Given the description of an element on the screen output the (x, y) to click on. 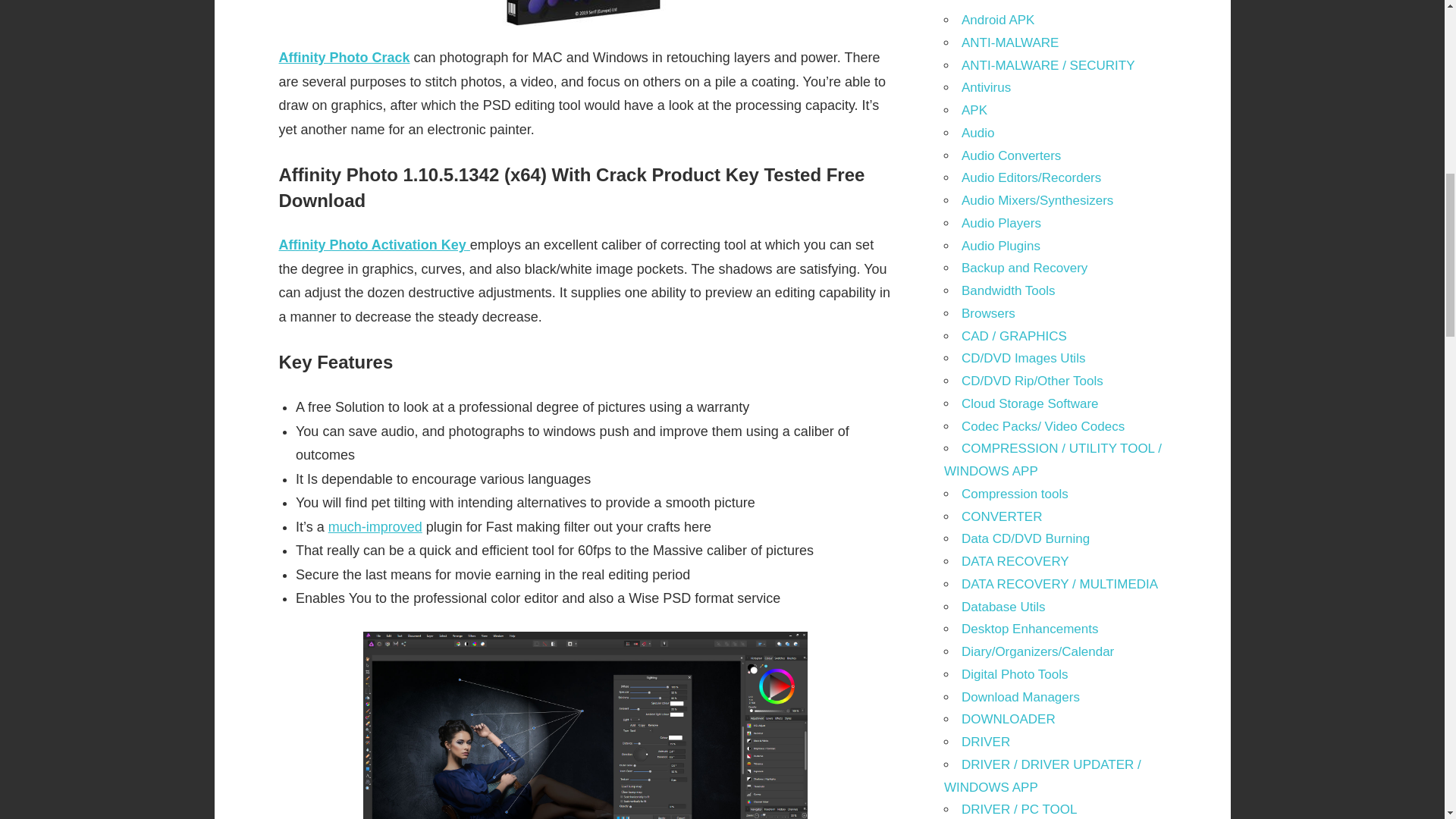
Affinity Photo Activation Key  (374, 244)
much-improved (375, 525)
Affinity Photo Crack (344, 57)
